Given the description of an element on the screen output the (x, y) to click on. 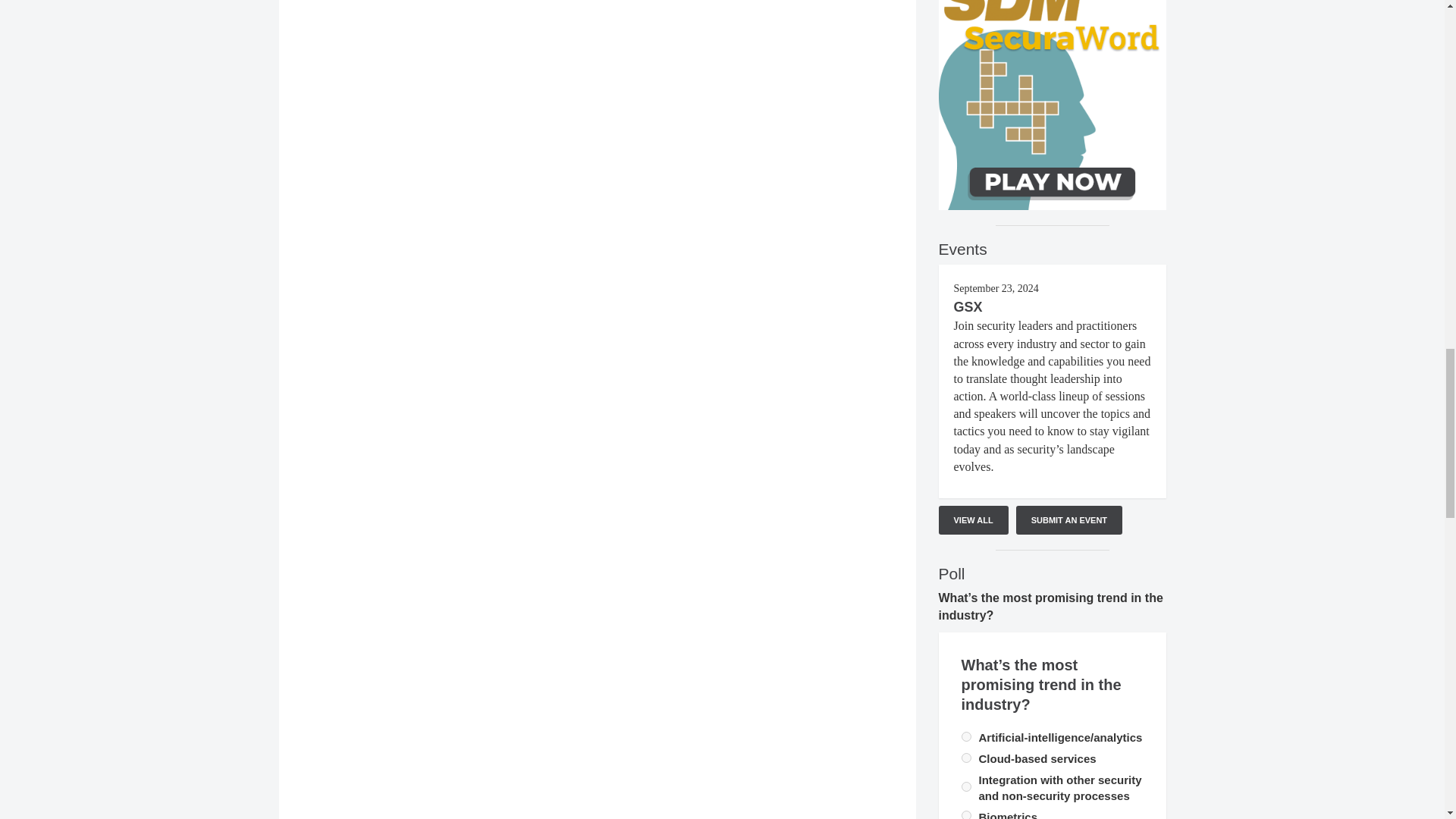
490 (965, 757)
492 (965, 814)
491 (965, 786)
GSX (967, 306)
489 (965, 737)
